Given the description of an element on the screen output the (x, y) to click on. 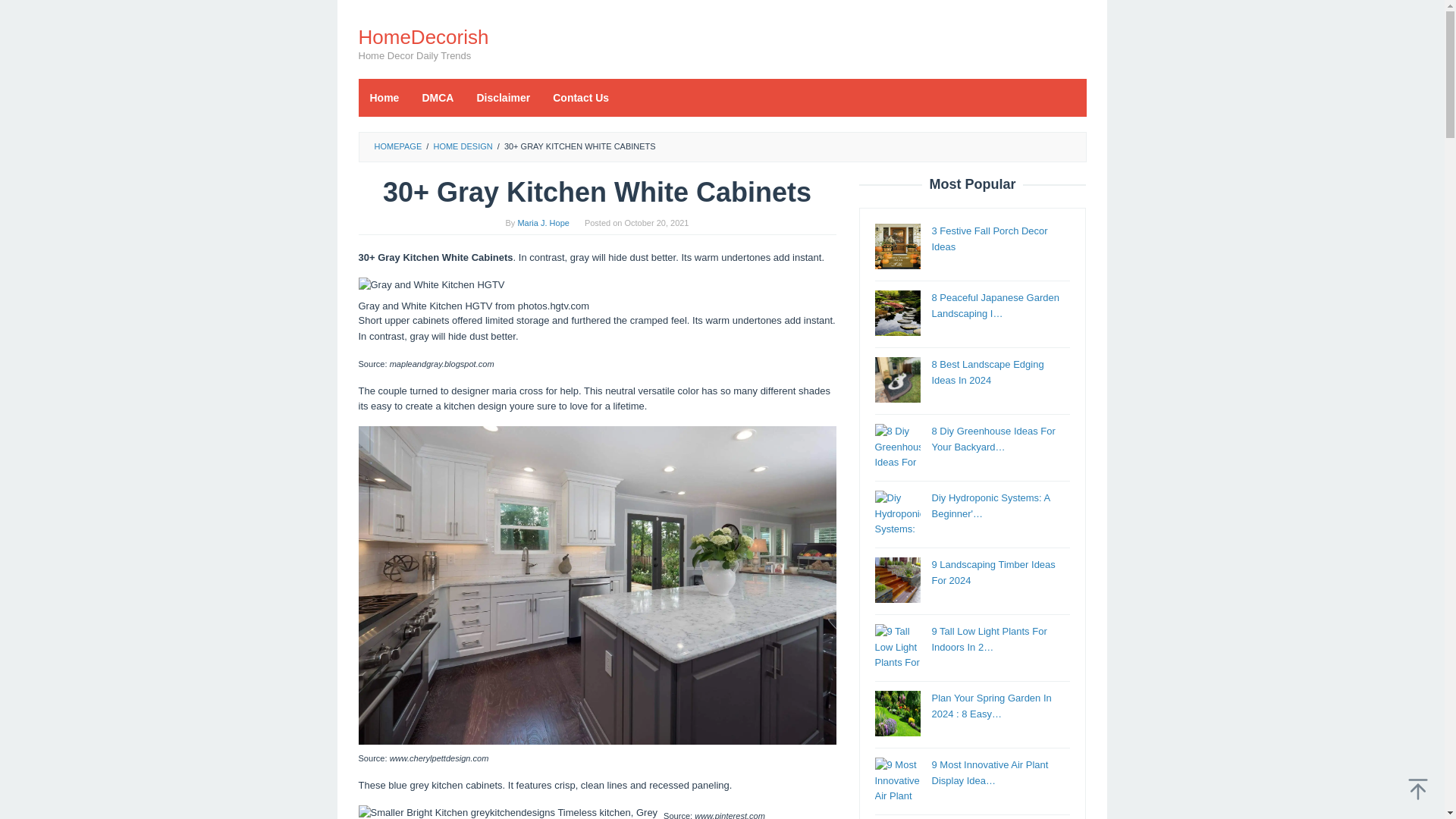
Disclaimer (502, 97)
HOMEPAGE (398, 145)
3 Festive Fall Porch Decor Ideas (988, 238)
Maria J. Hope (542, 222)
Home (384, 97)
8 Best Landscape Edging Ideas In 2024 (987, 371)
9 Landscaping Timber Ideas For 2024 (992, 572)
Contact Us (580, 97)
HOME DESIGN (462, 145)
Permalink to: Maria J. Hope (542, 222)
HomeDecorish (422, 36)
HomeDecorish (422, 36)
DMCA (437, 97)
